Given the description of an element on the screen output the (x, y) to click on. 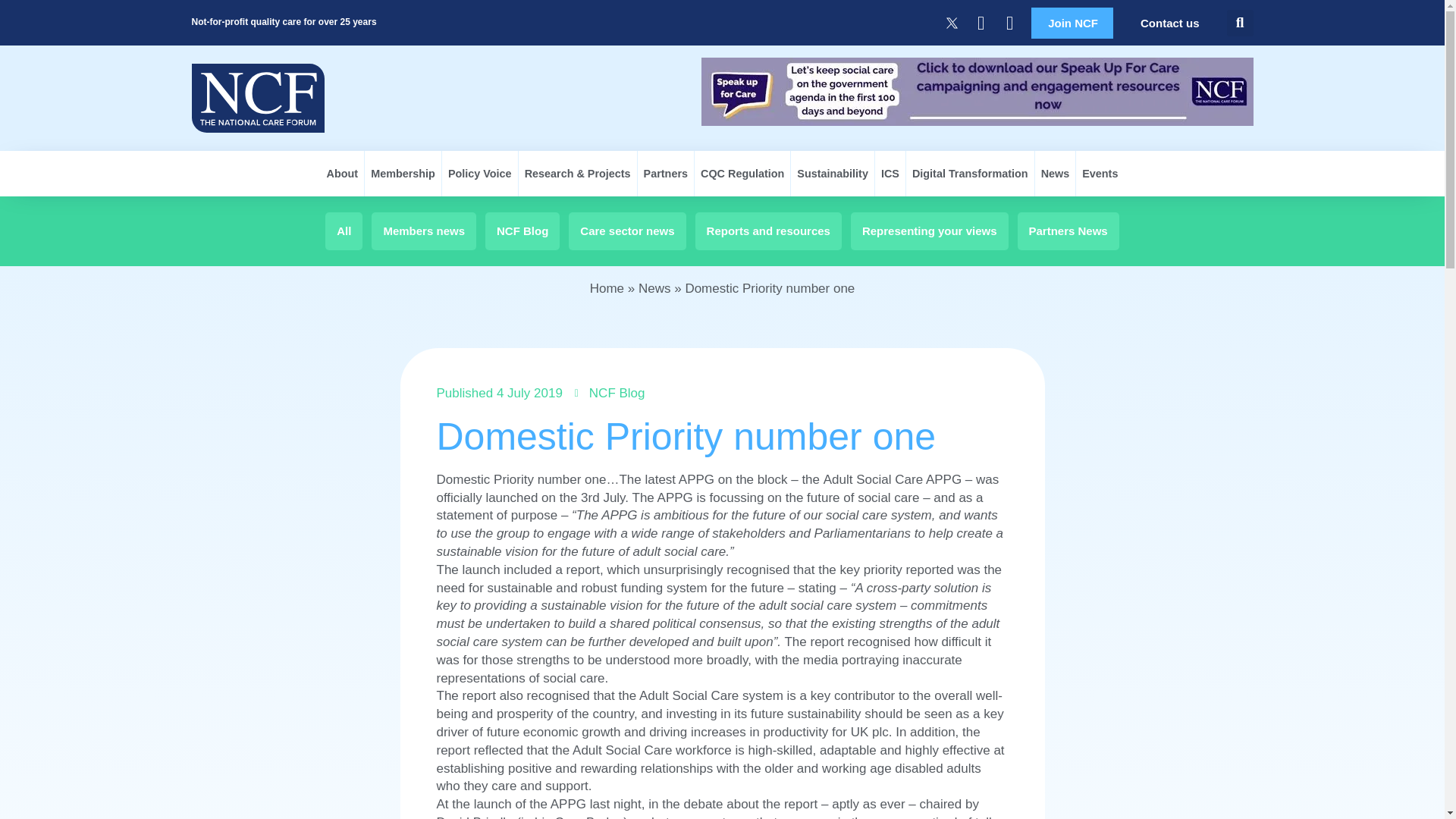
Digital Transformation (969, 173)
Policy Voice (480, 173)
CQC Regulation (742, 173)
About (342, 173)
Partners (665, 173)
Contact us (1169, 22)
Sustainability (832, 173)
Membership (403, 173)
Join NCF (1071, 22)
